Given the description of an element on the screen output the (x, y) to click on. 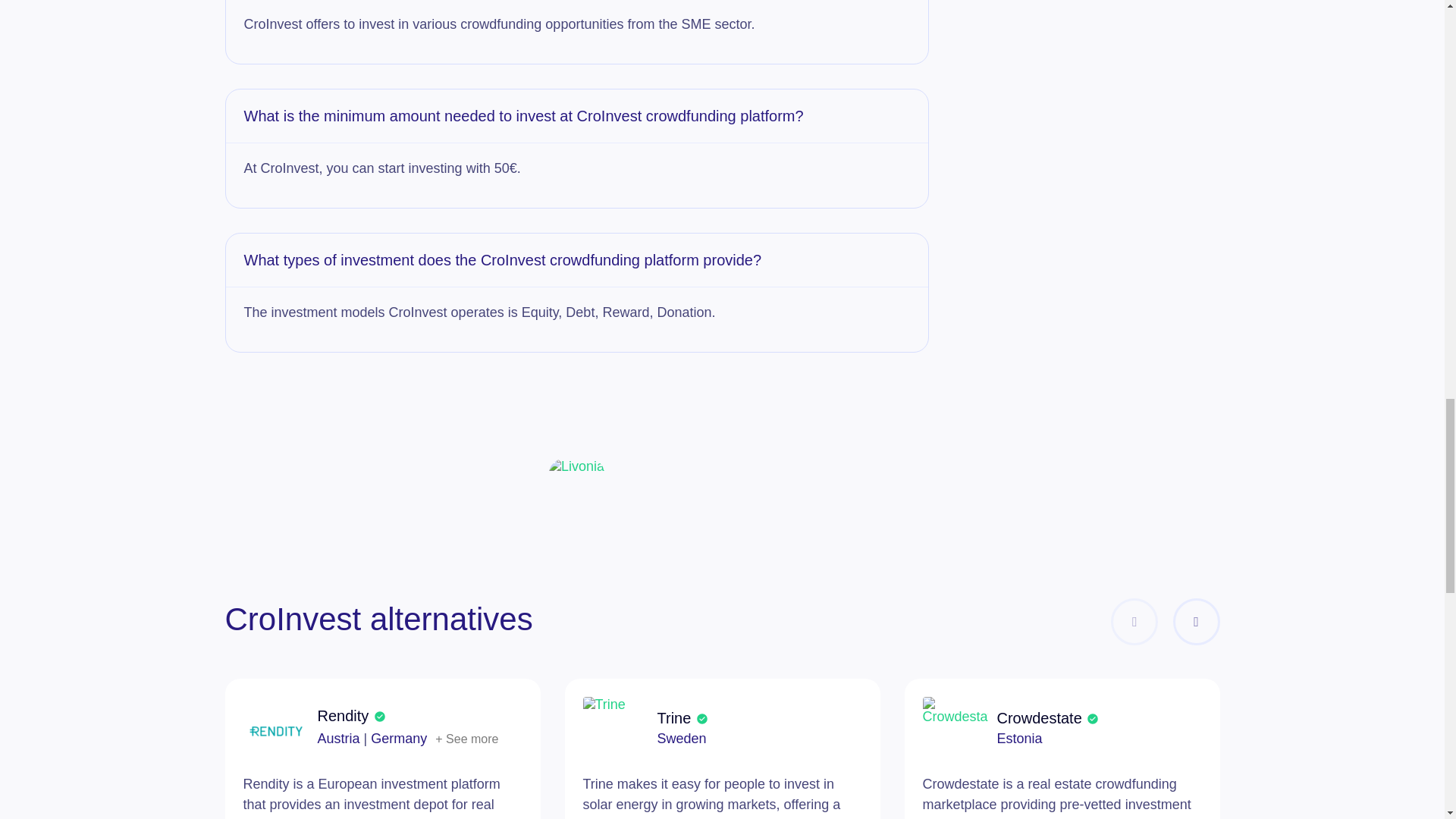
Verified platform (1092, 717)
Verified platform (702, 717)
Verified platform (379, 715)
